Given the description of an element on the screen output the (x, y) to click on. 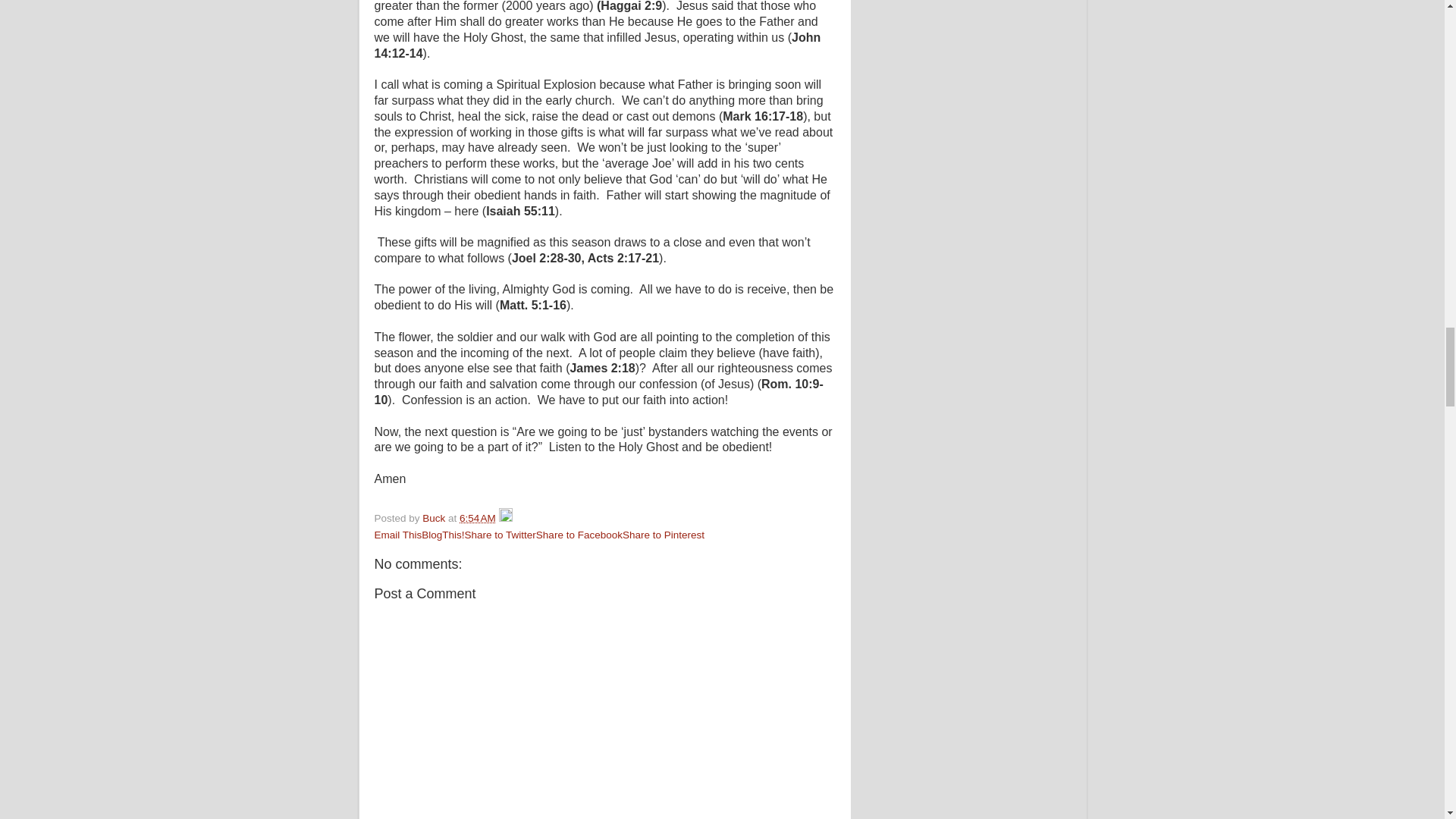
author profile (435, 518)
Email This (398, 534)
Share to Pinterest (663, 534)
Share to Twitter (499, 534)
Share to Facebook (579, 534)
permanent link (478, 518)
Email This (398, 534)
Share to Pinterest (663, 534)
Share to Twitter (499, 534)
BlogThis! (443, 534)
BlogThis! (443, 534)
Share to Facebook (579, 534)
Buck (435, 518)
Edit Post (505, 518)
